Given the description of an element on the screen output the (x, y) to click on. 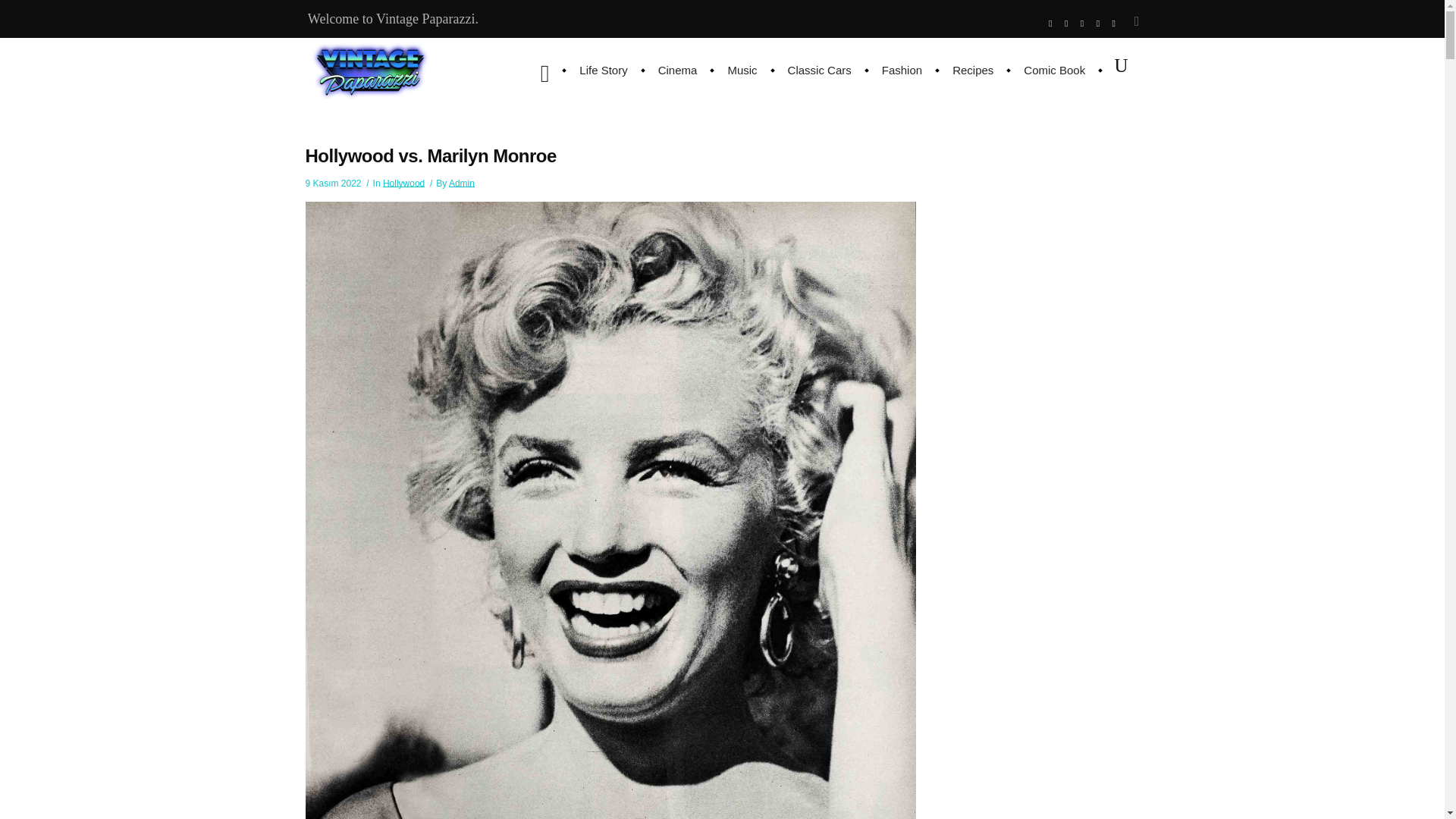
Cinema (678, 69)
Music (741, 69)
Comic Book (1054, 69)
Fashion (901, 69)
Recipes (973, 69)
Classic Cars (819, 69)
Life Story (603, 69)
Hollywood (403, 183)
